Given the description of an element on the screen output the (x, y) to click on. 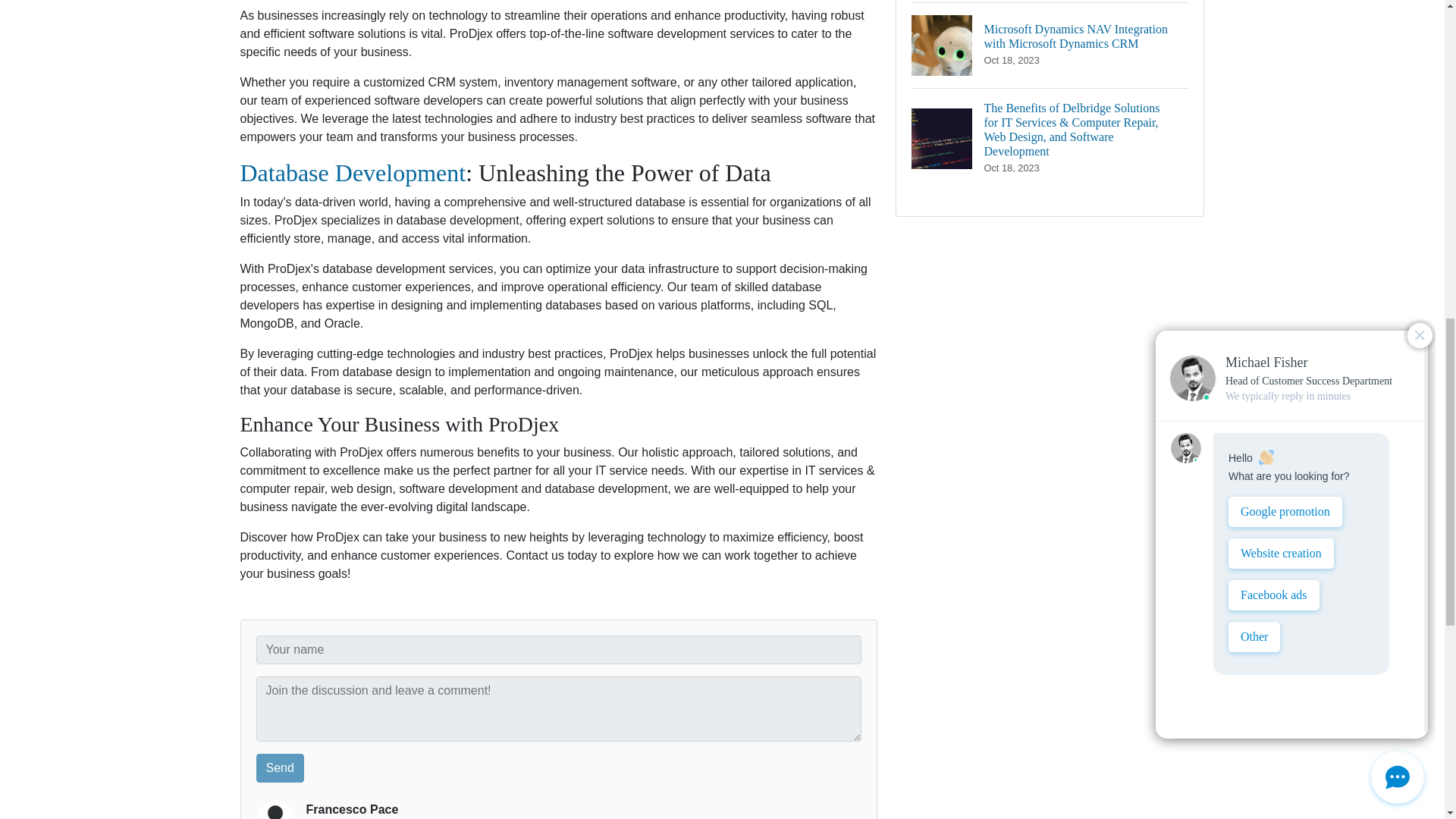
Database Development (352, 172)
Send (280, 767)
Send (280, 767)
